Given the description of an element on the screen output the (x, y) to click on. 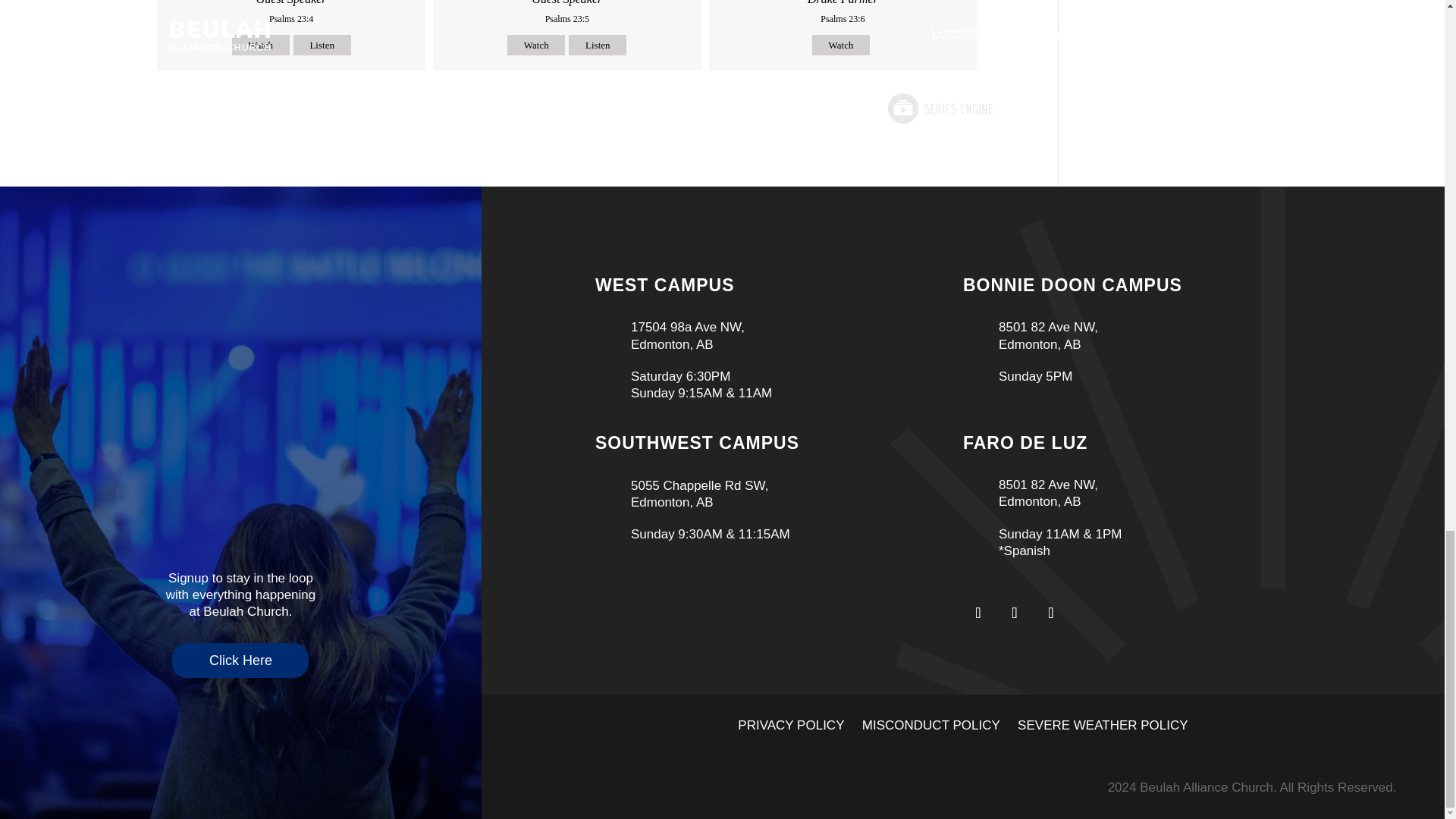
Watch (535, 45)
Watch (840, 45)
Powered by Series Engine (939, 108)
Follow on Youtube (1050, 612)
Listen (322, 45)
Watch (260, 45)
Follow on Facebook (977, 612)
Listen (597, 45)
Follow on Instagram (1013, 612)
